Given the description of an element on the screen output the (x, y) to click on. 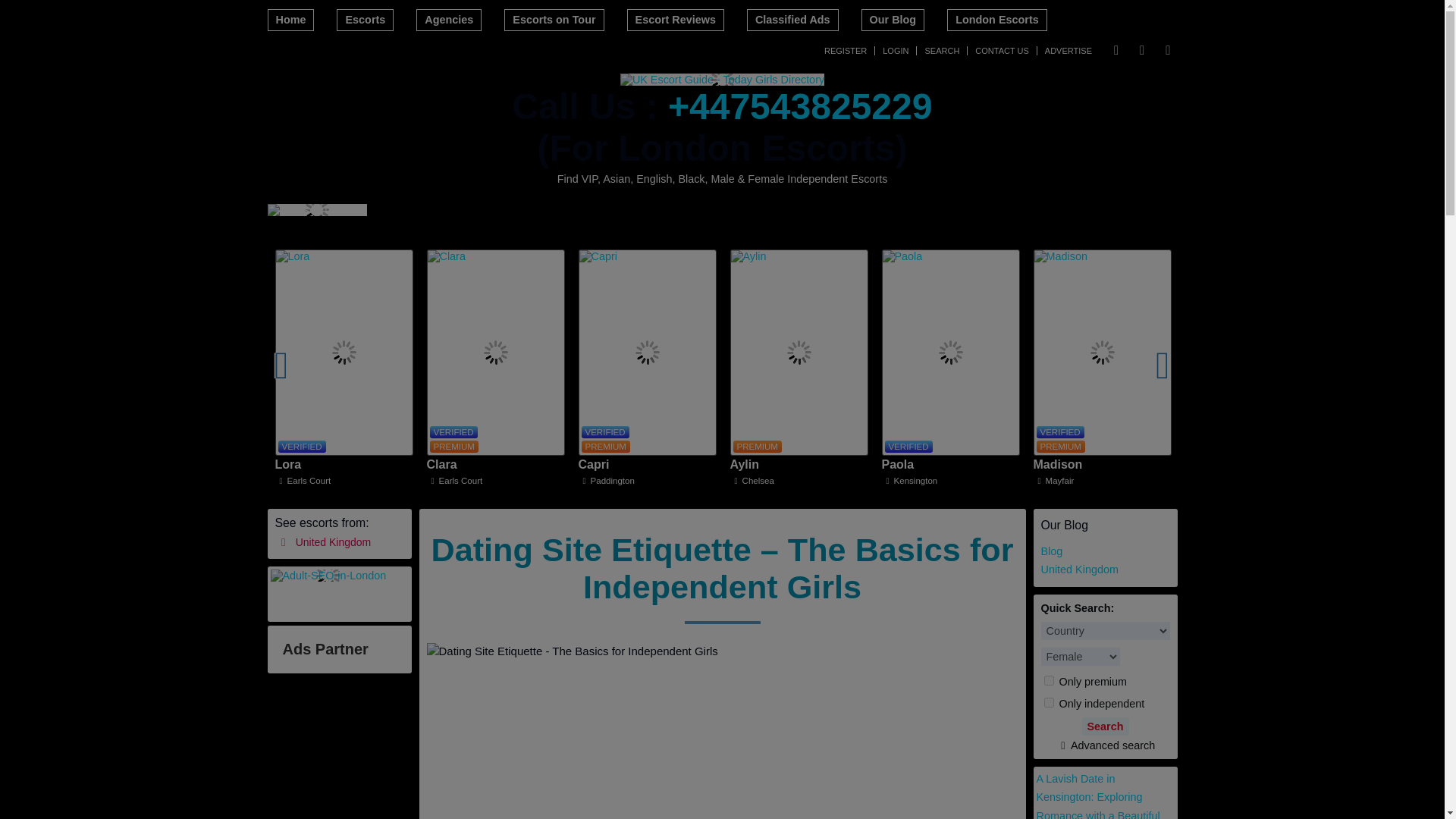
yes (1047, 702)
Search (1104, 726)
1 (1047, 680)
